Given the description of an element on the screen output the (x, y) to click on. 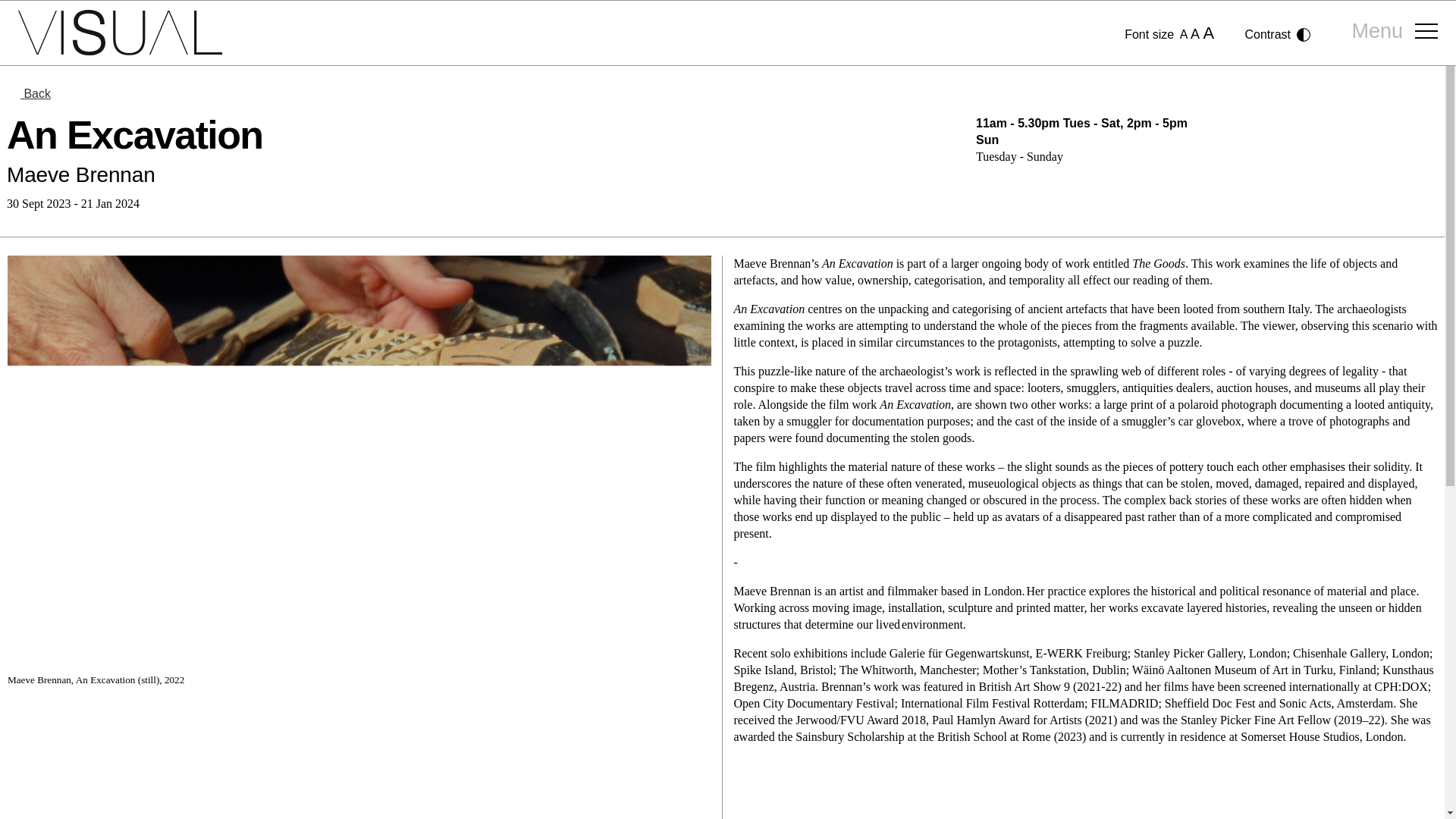
Menu (1394, 32)
Contrast (1277, 34)
YouTube video player (359, 762)
